Given the description of an element on the screen output the (x, y) to click on. 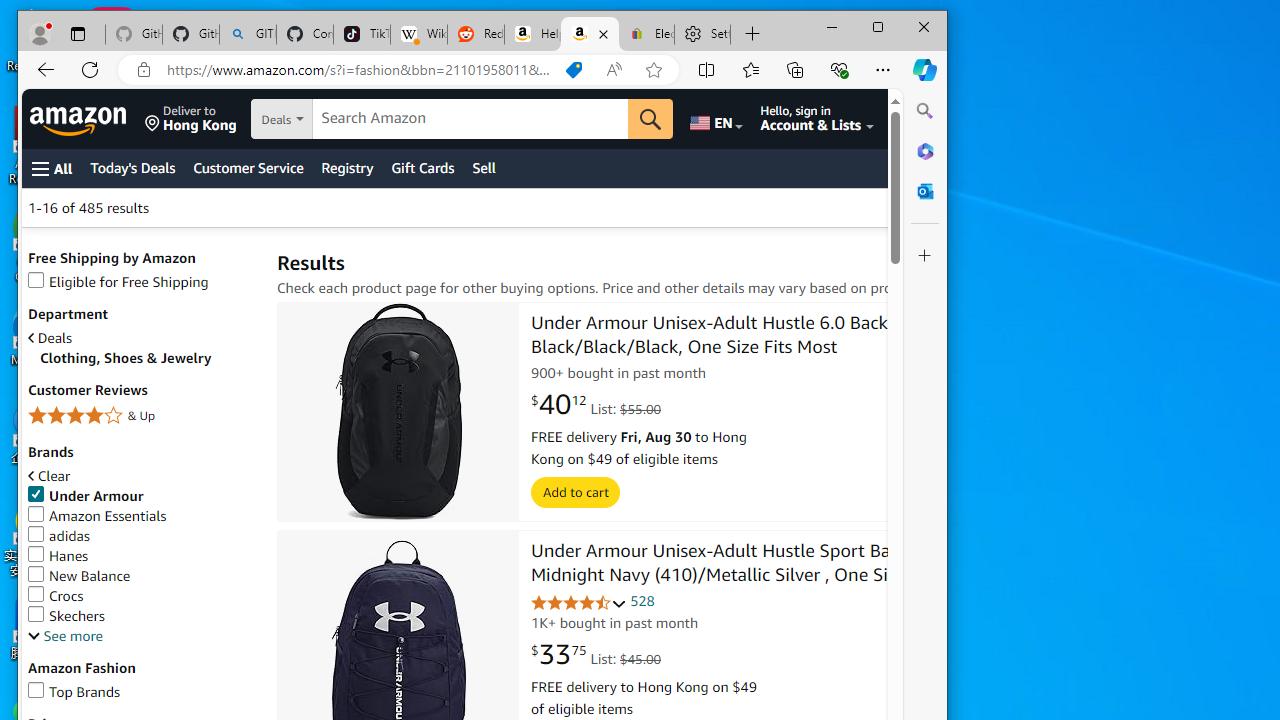
Hanes (142, 556)
Hanes (58, 555)
$40.12 List: $55.00 (596, 405)
Clothing, Shoes & Jewelry (148, 358)
Clear (49, 476)
Go (651, 118)
Skechers (66, 615)
